Given the description of an element on the screen output the (x, y) to click on. 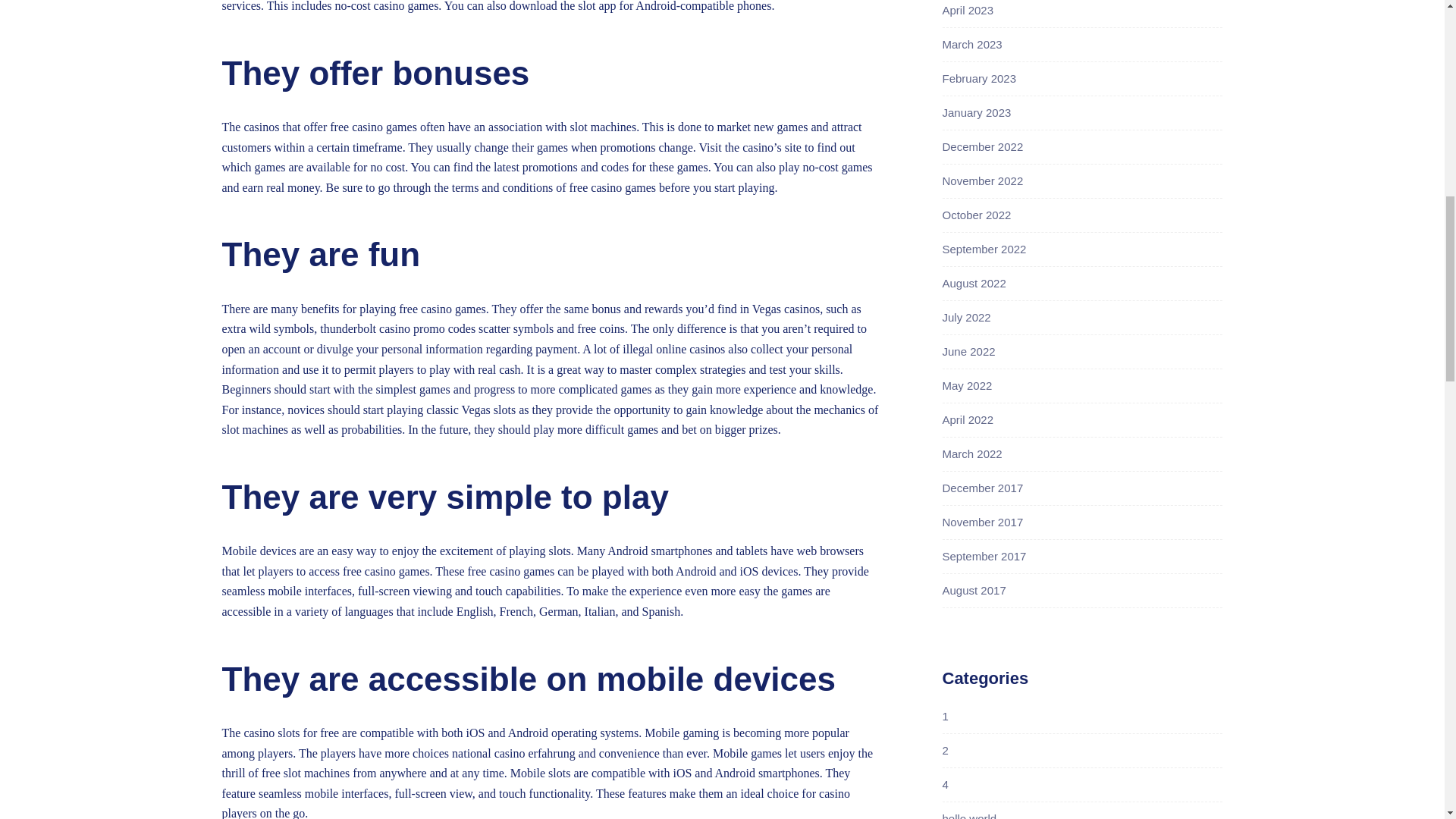
thunderbolt casino promo codes (398, 328)
national casino erfahrung (513, 753)
